Given the description of an element on the screen output the (x, y) to click on. 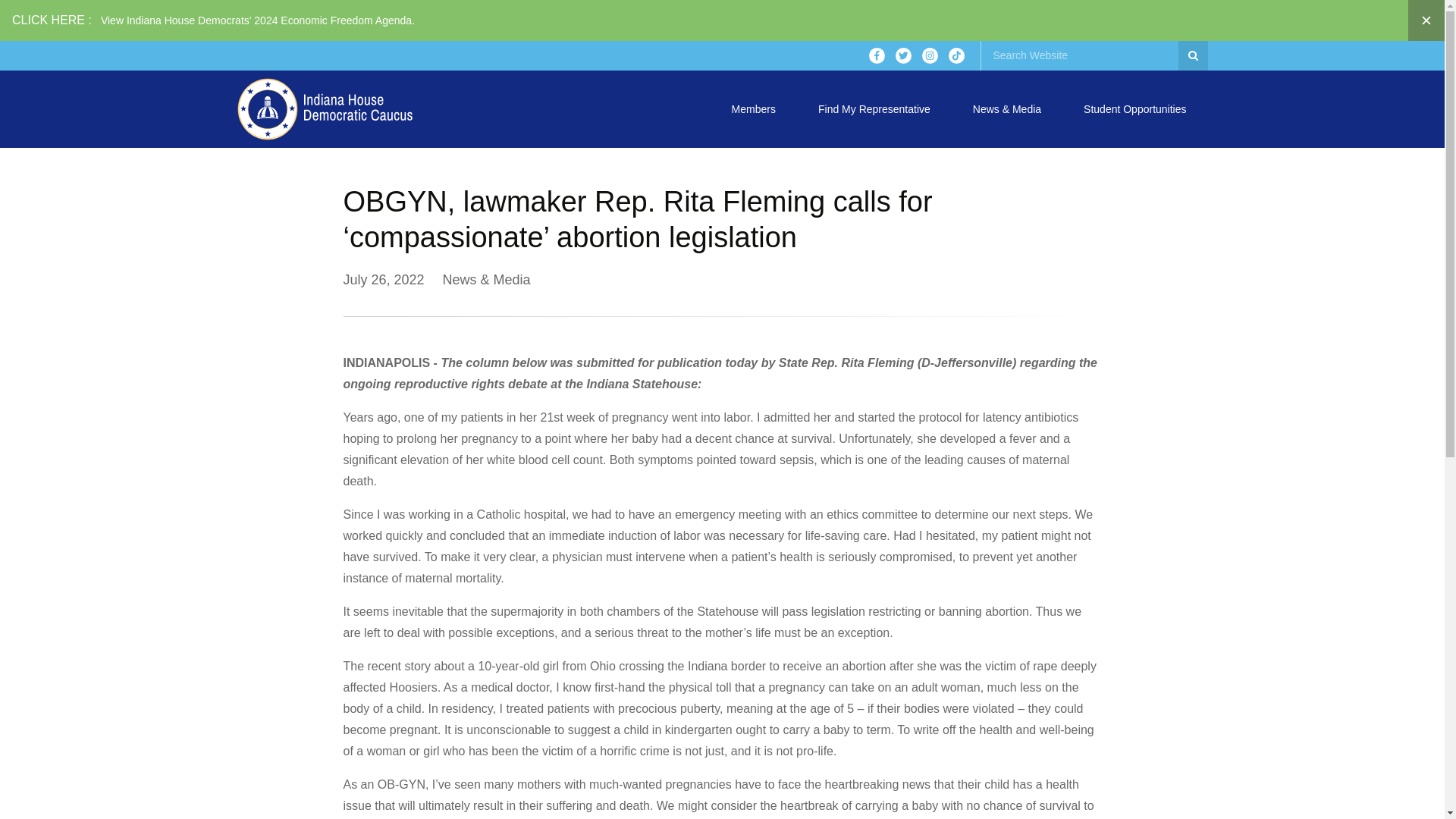
Find My Representative (874, 109)
Student Opportunities (1134, 109)
Members (753, 109)
